Given the description of an element on the screen output the (x, y) to click on. 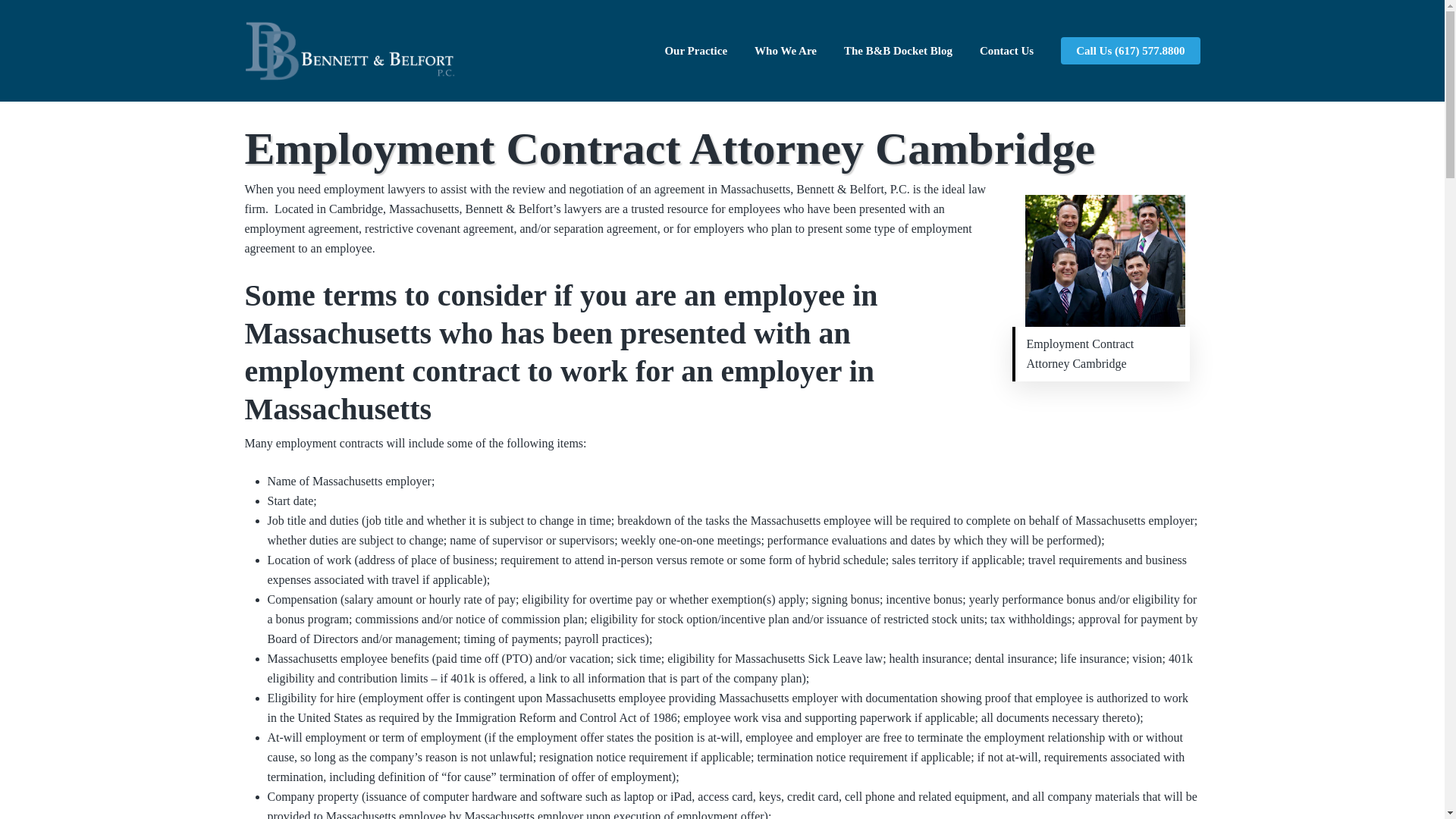
Who We Are (785, 50)
Contact Us (1006, 50)
Our Practice (695, 50)
